Given the description of an element on the screen output the (x, y) to click on. 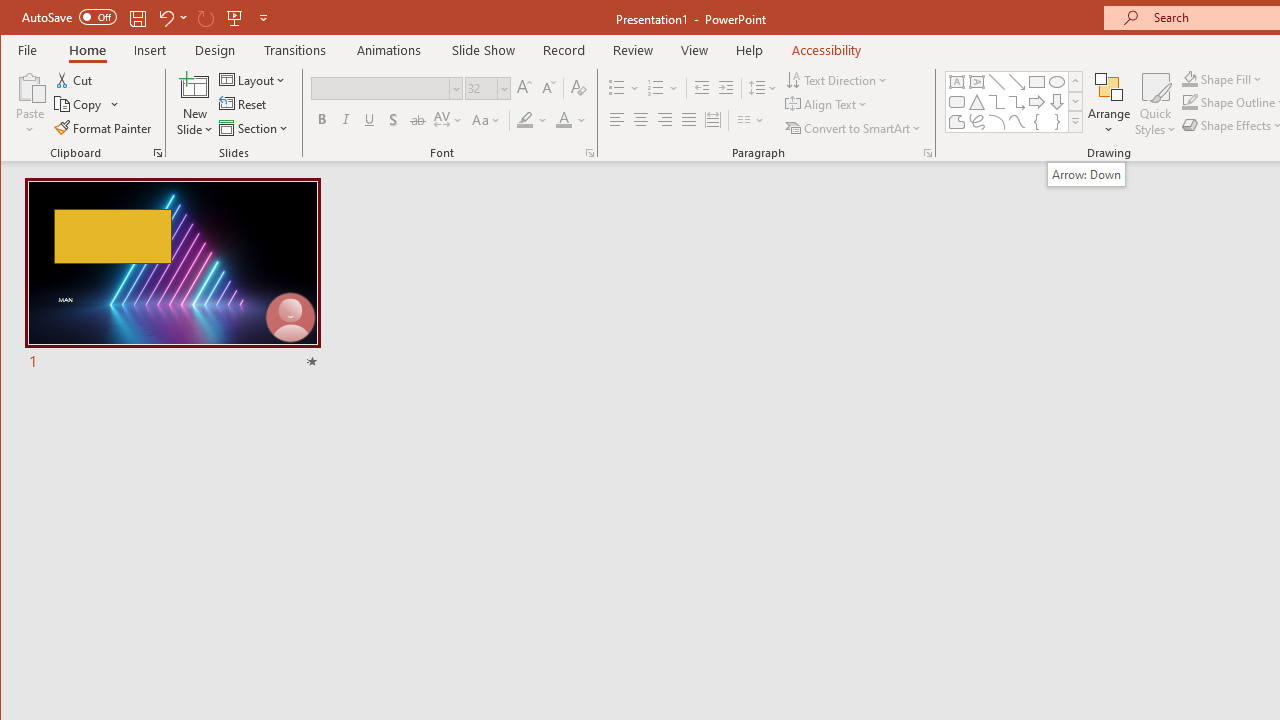
Paragraph... (927, 152)
Layout (253, 80)
Oval (1057, 82)
Center (640, 119)
Italic (346, 119)
Office Clipboard... (157, 152)
Format Painter (104, 127)
Convert to SmartArt (855, 127)
